Given the description of an element on the screen output the (x, y) to click on. 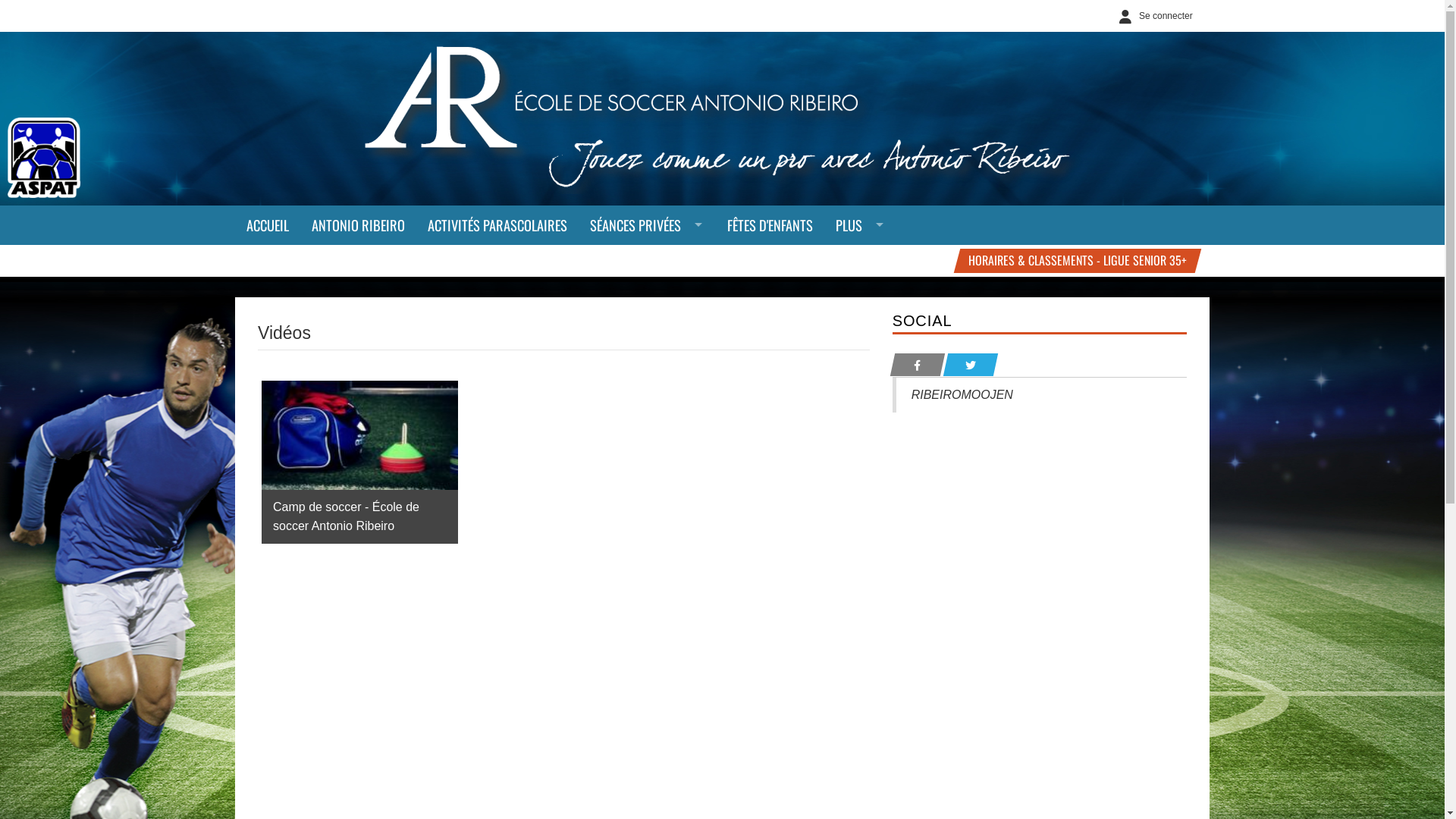
PLUS Element type: text (860, 225)
ANTONIO RIBEIRO Element type: text (358, 225)
Se connecter Element type: text (1152, 15)
HORAIRES & CLASSEMENTS - LIGUE SENIOR 35+ Element type: text (1074, 260)
RIBEIROMOOJEN Element type: text (962, 394)
ACCUEIL Element type: text (267, 225)
